Given the description of an element on the screen output the (x, y) to click on. 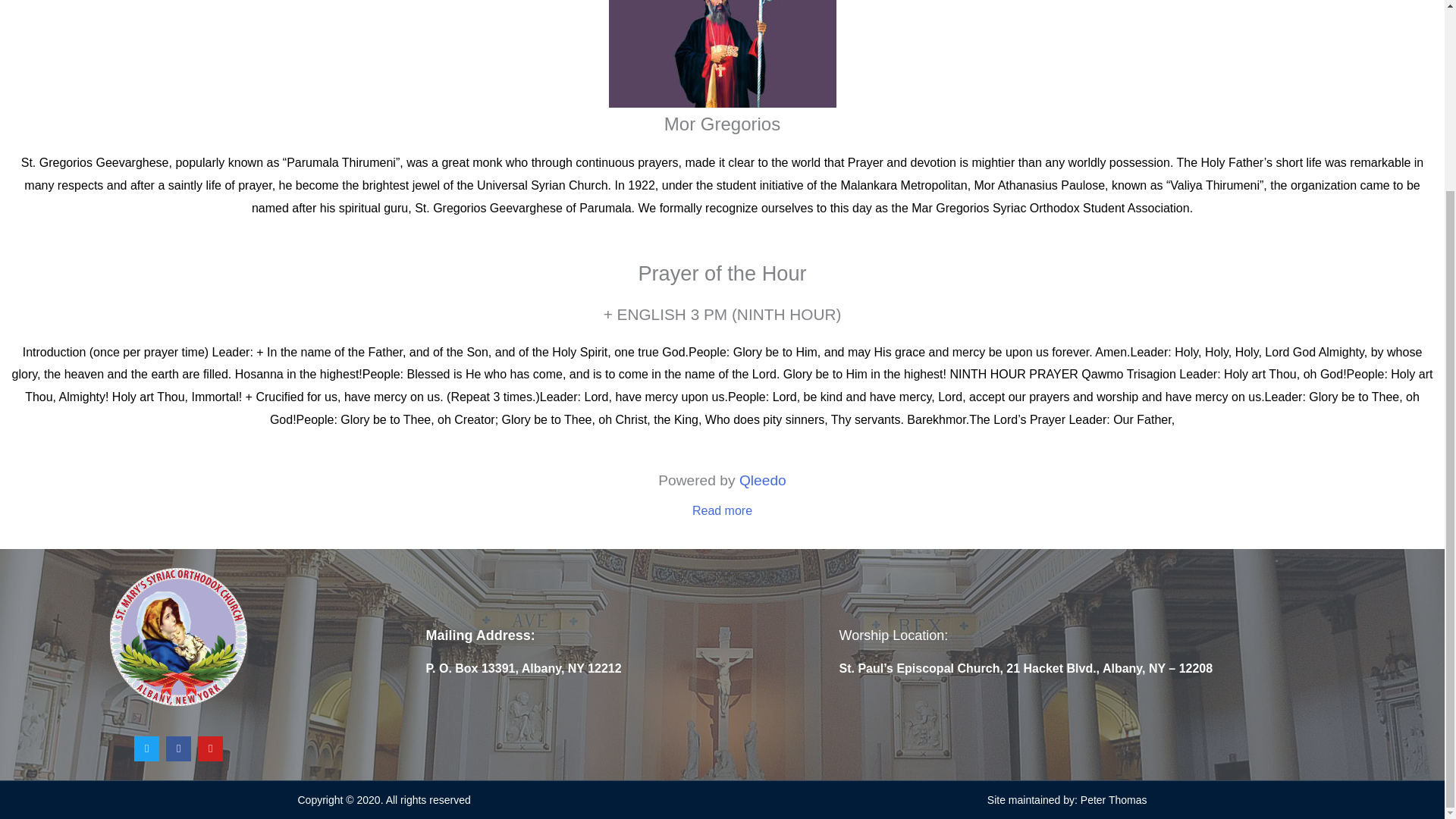
Site maintained by: Peter Thomas (1067, 799)
Qleedo (762, 480)
Read more (722, 510)
